Given the description of an element on the screen output the (x, y) to click on. 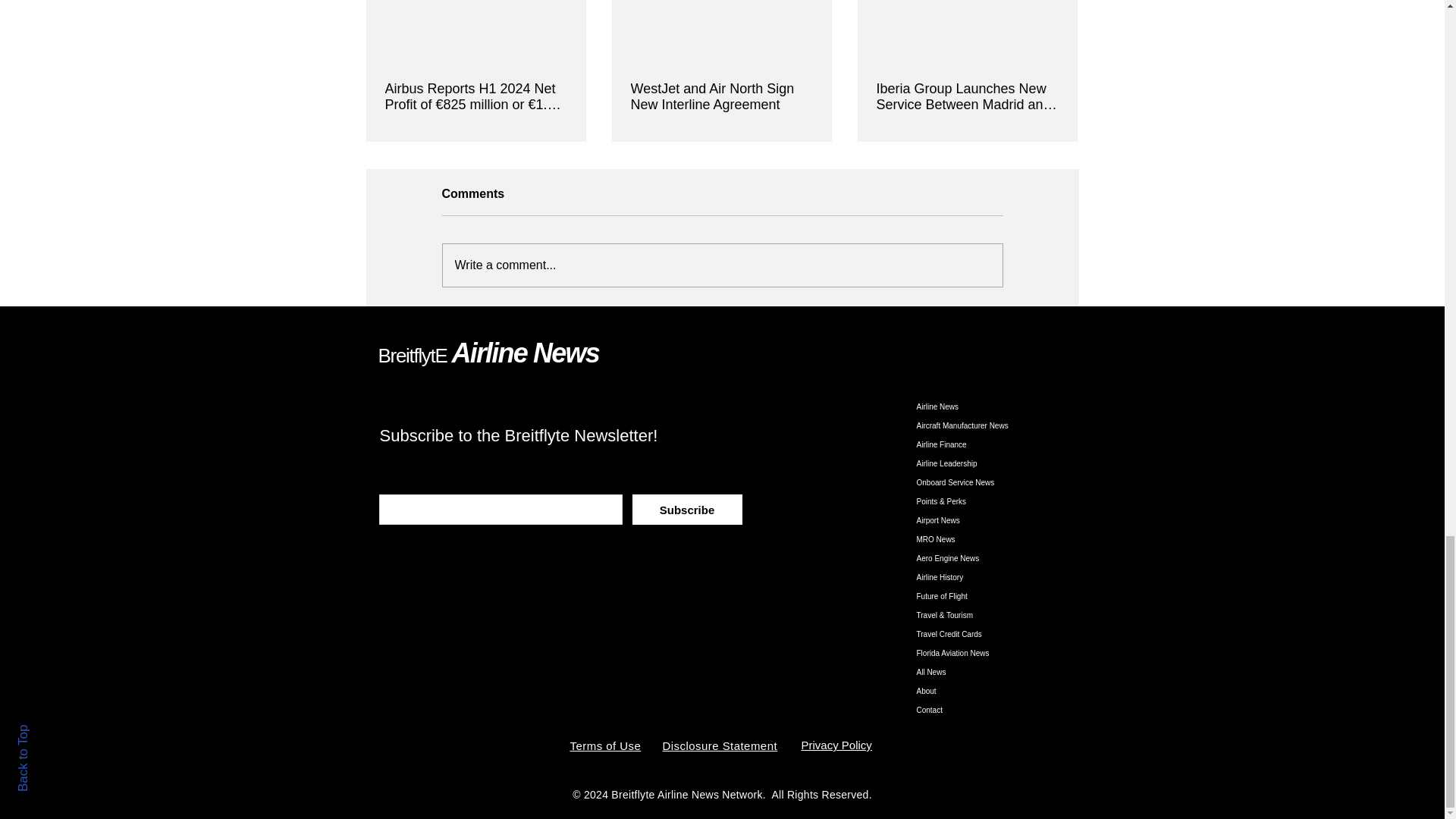
Write a comment... (722, 265)
WestJet and Air North Sign New Interline Agreement (721, 97)
